Given the description of an element on the screen output the (x, y) to click on. 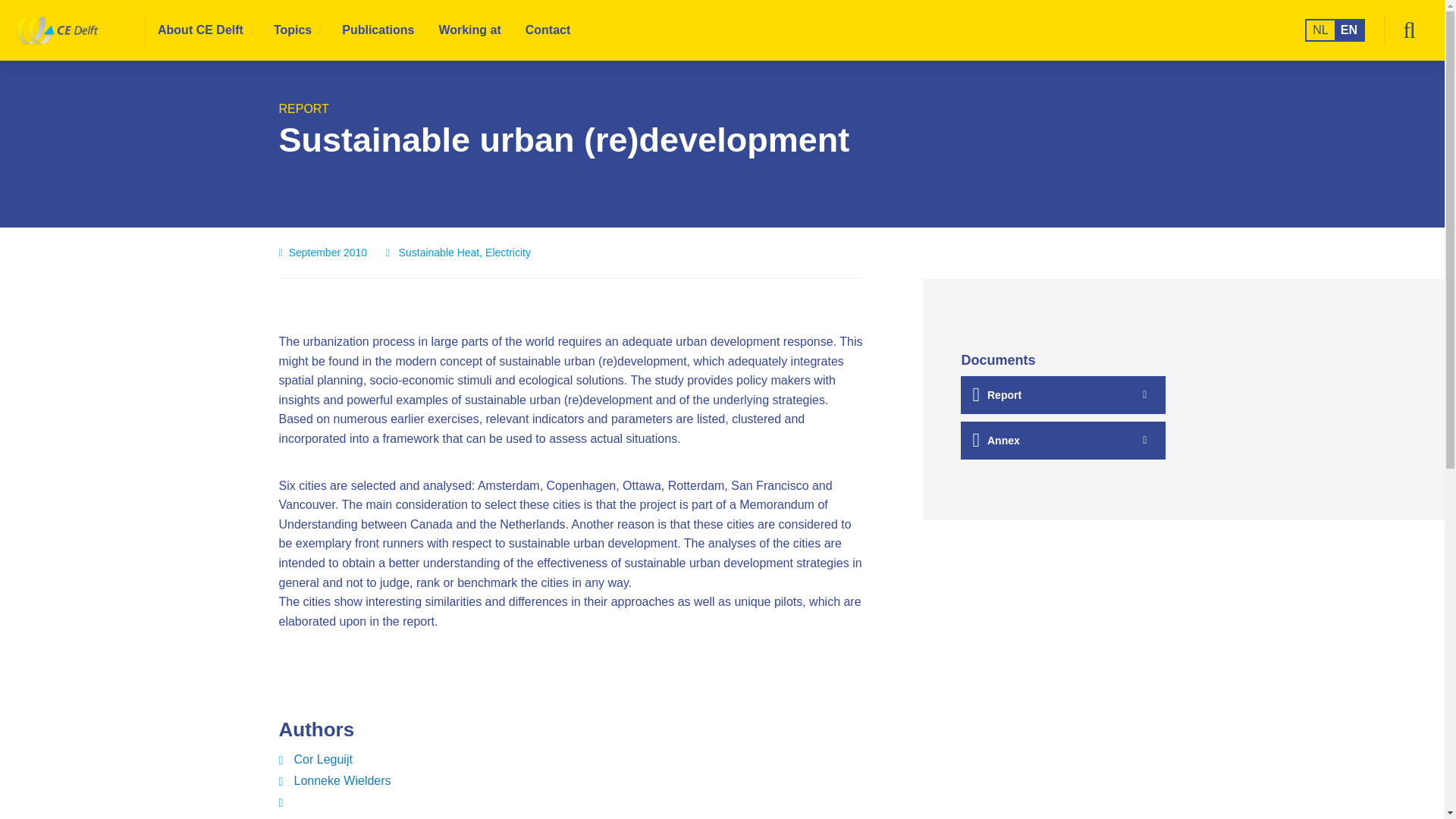
Logo CE Delft (79, 30)
Topics (296, 30)
About CE Delft (203, 30)
